Given the description of an element on the screen output the (x, y) to click on. 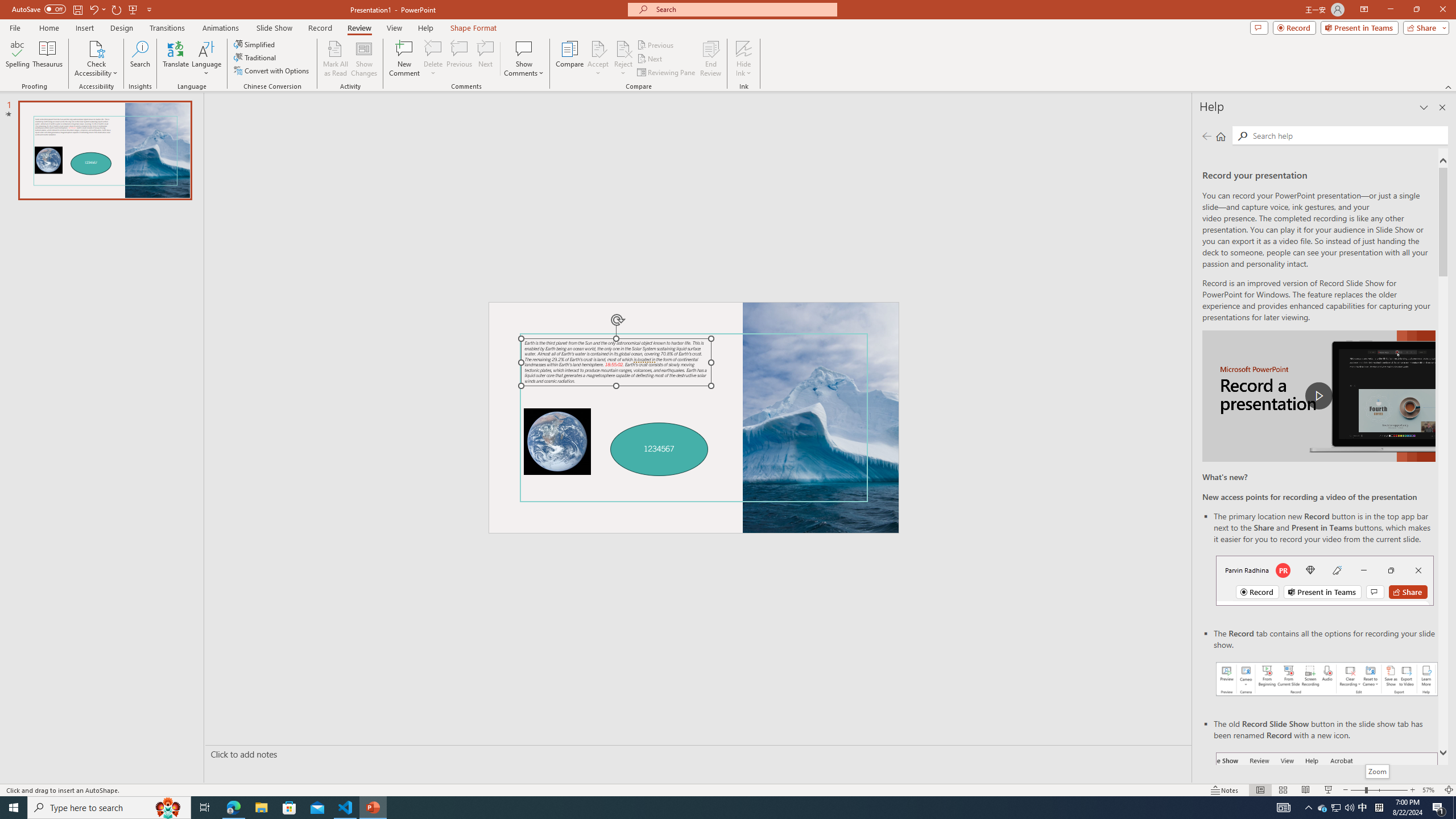
Record button in top bar (1324, 580)
Delete (432, 48)
Translate (175, 58)
Reject (622, 58)
End Review (710, 58)
Mark All as Read (335, 58)
Reviewing Pane (666, 72)
